Given the description of an element on the screen output the (x, y) to click on. 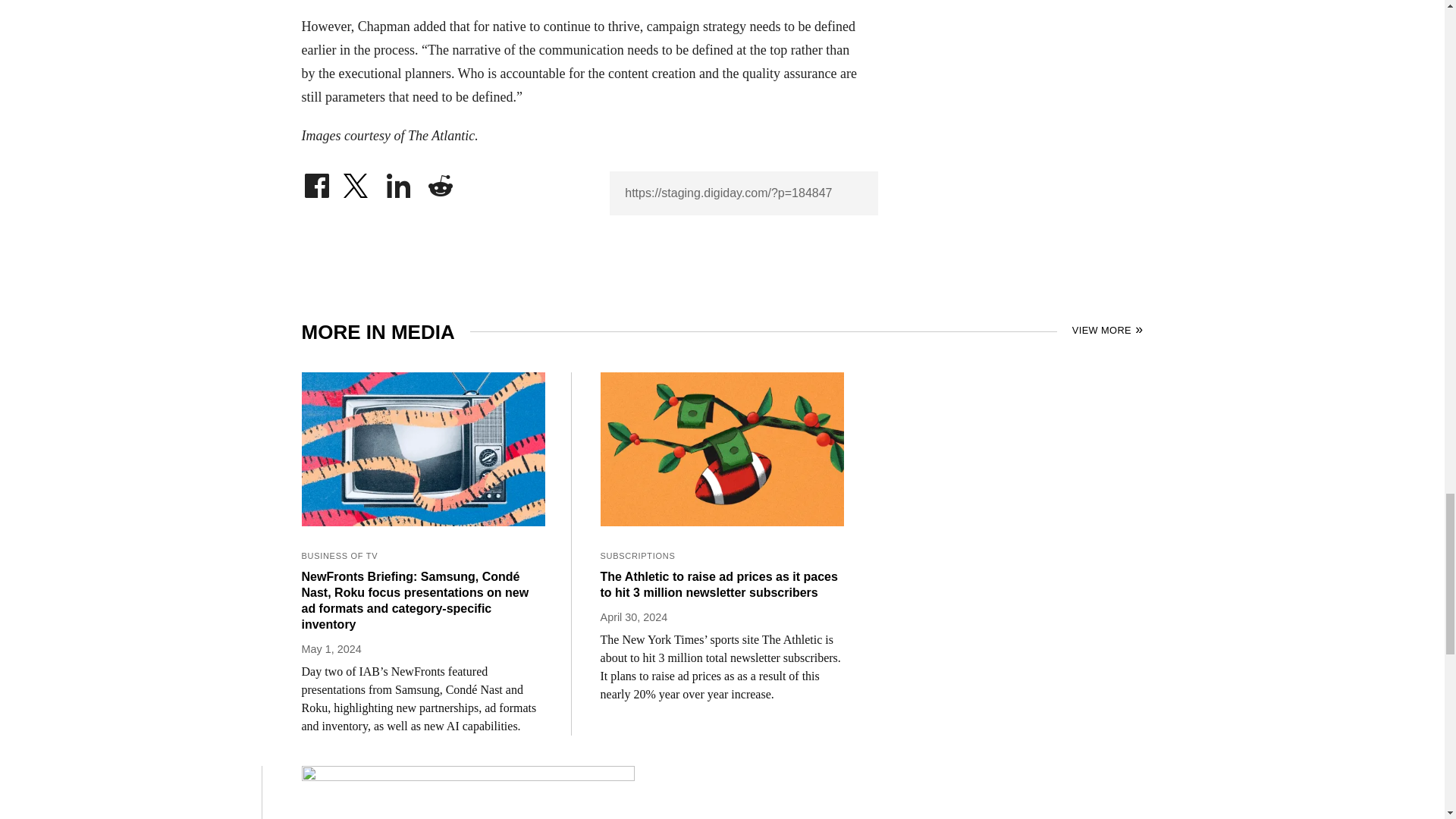
Share on Reddit (440, 181)
Share on Facebook (316, 181)
Share on LinkedIn (398, 181)
Share on Twitter (357, 181)
